Given the description of an element on the screen output the (x, y) to click on. 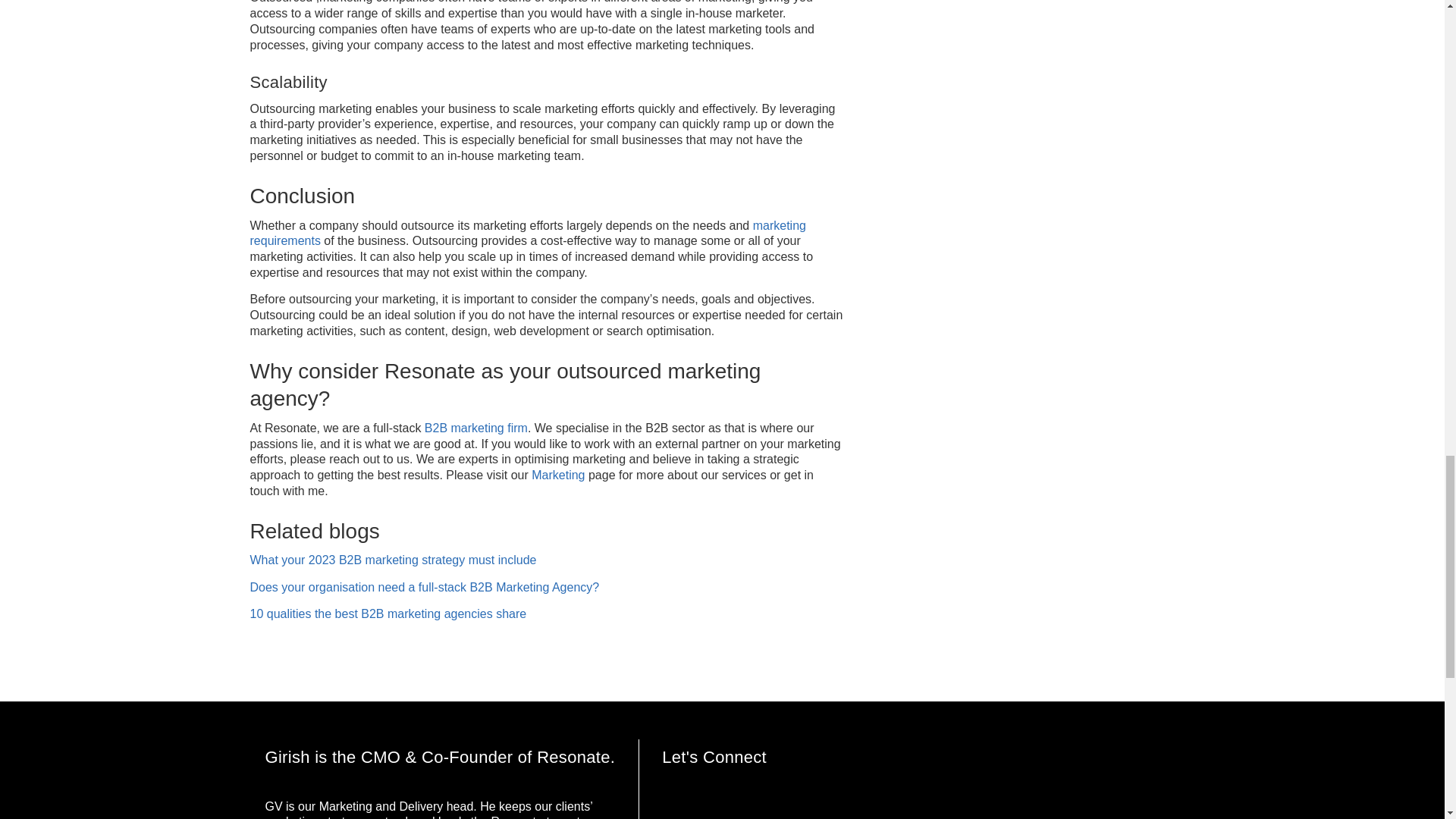
Marketing (558, 474)
What your 2023 B2B marketing strategy must include (393, 559)
10 qualities the best B2B marketing agencies share (388, 613)
marketing requirements (528, 233)
B2B marketing firm (476, 427)
